Given the description of an element on the screen output the (x, y) to click on. 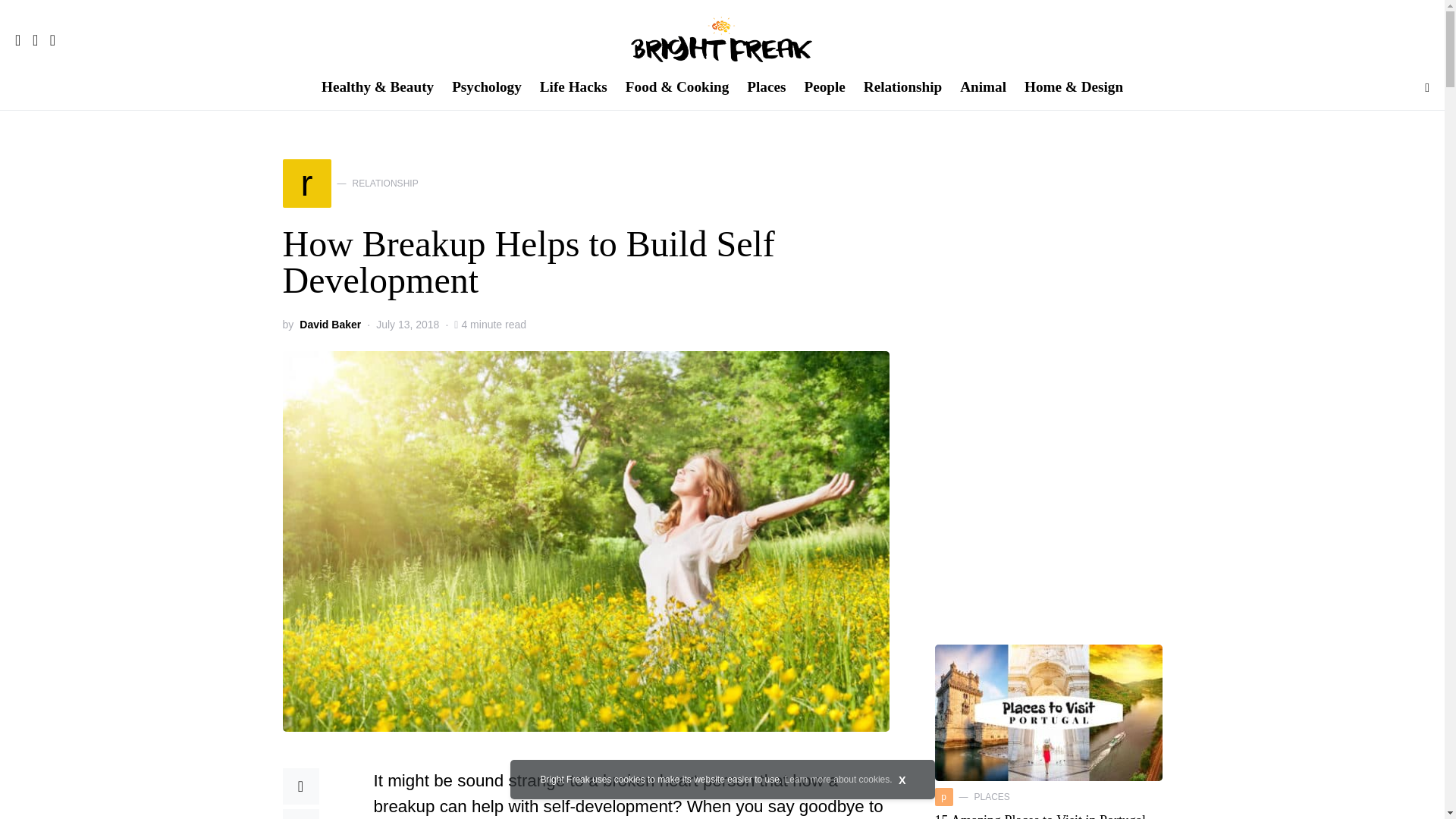
Relationship (902, 87)
View all posts by David Baker (330, 324)
People (823, 87)
Psychology (486, 87)
Places (766, 87)
Animal (349, 183)
15 Amazing Places to Visit in Portugal (982, 87)
Life Hacks (1039, 816)
David Baker (573, 87)
